Given the description of an element on the screen output the (x, y) to click on. 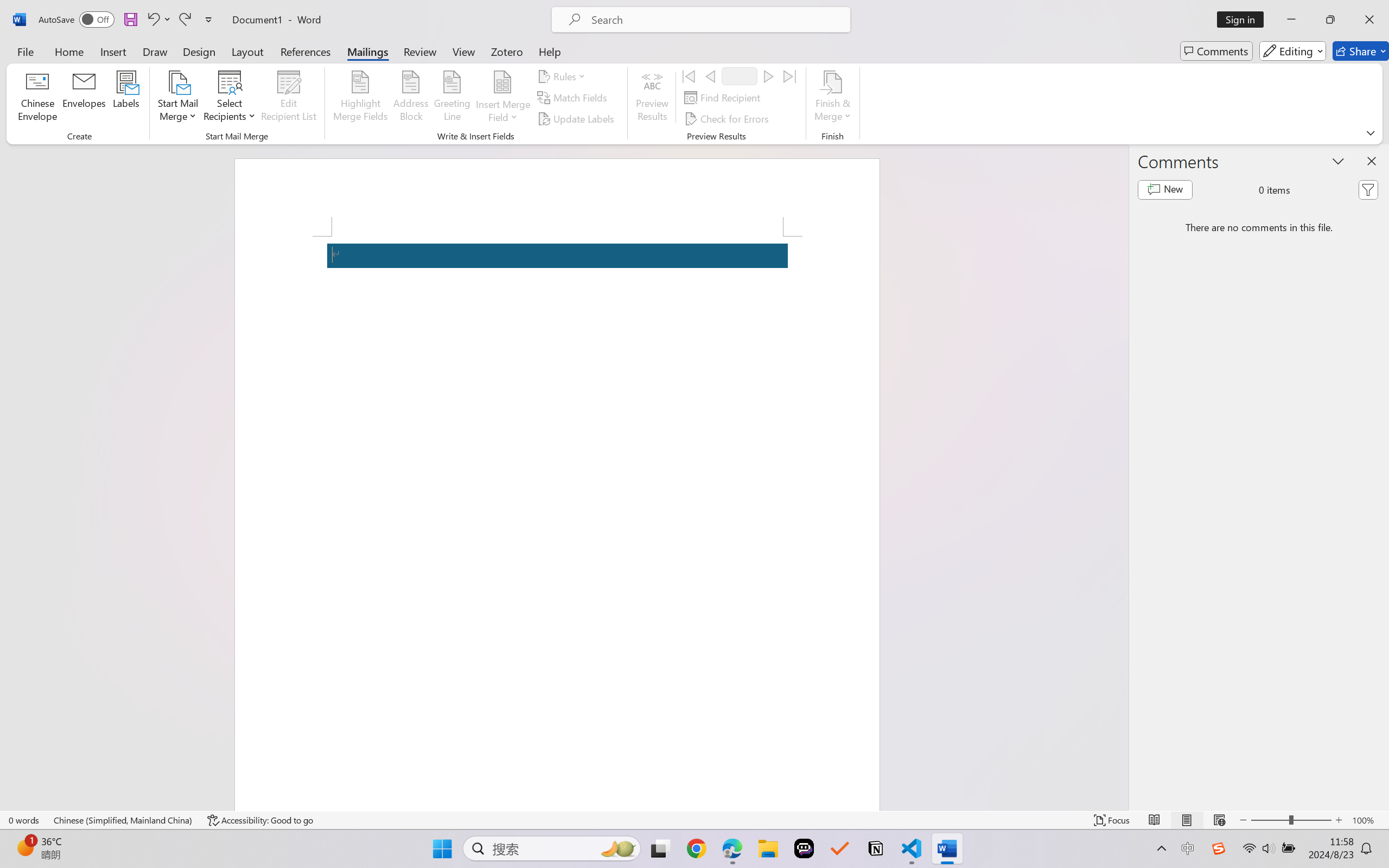
Sign in (1244, 19)
Insert Merge Field (502, 97)
Language Chinese (Simplified, Mainland China) (123, 819)
Labels... (126, 97)
